Given the description of an element on the screen output the (x, y) to click on. 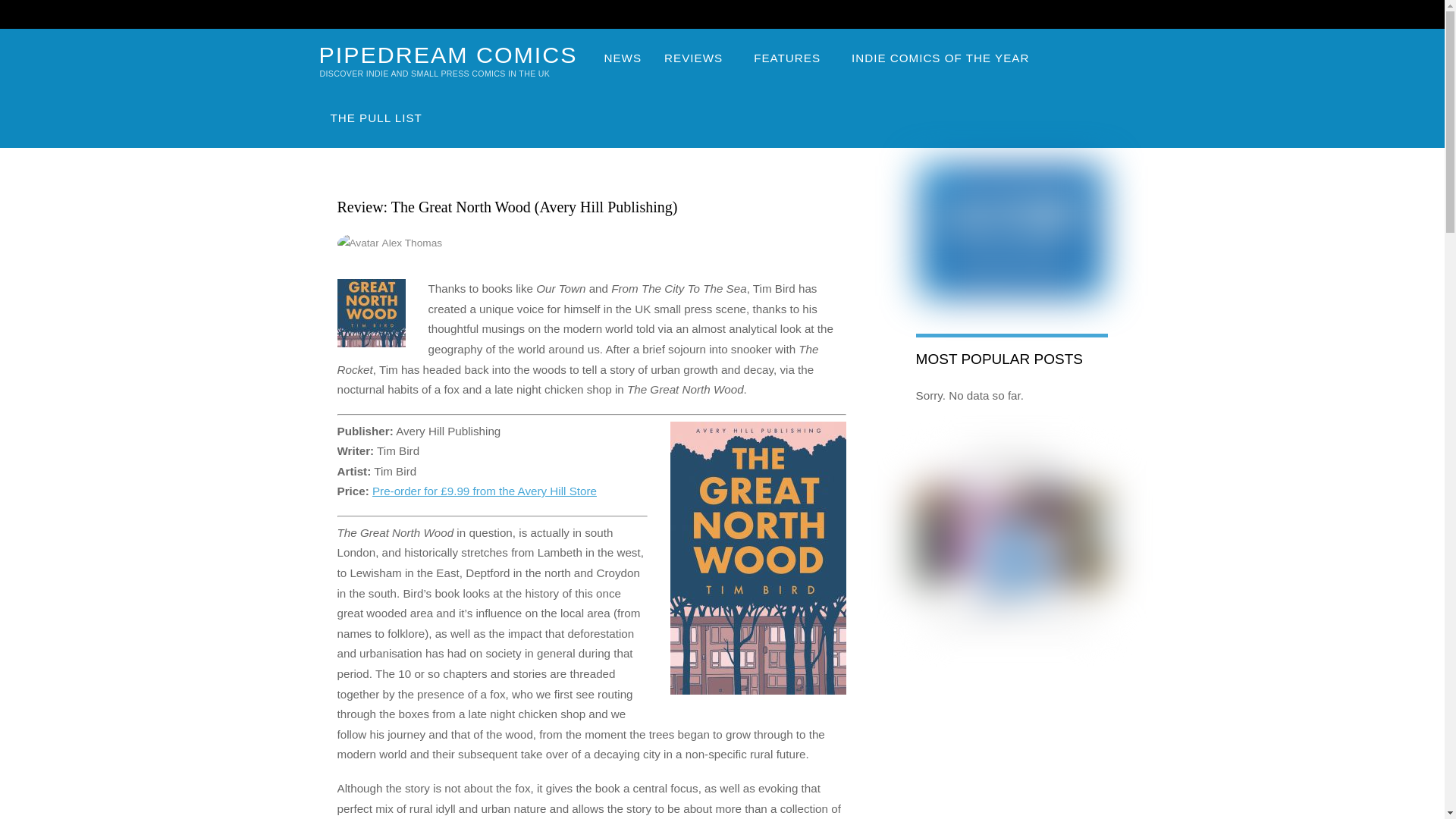
Pipedream Comics (447, 54)
REVIEWS (697, 58)
THE PULL LIST (375, 118)
INDIE COMICS OF THE YEAR (944, 58)
PIPEDREAM COMICS (447, 54)
Advertisement (1011, 755)
Mixam Printing (1011, 539)
NEWS (622, 58)
Alex Thomas (411, 242)
FEATURES (791, 58)
